Given the description of an element on the screen output the (x, y) to click on. 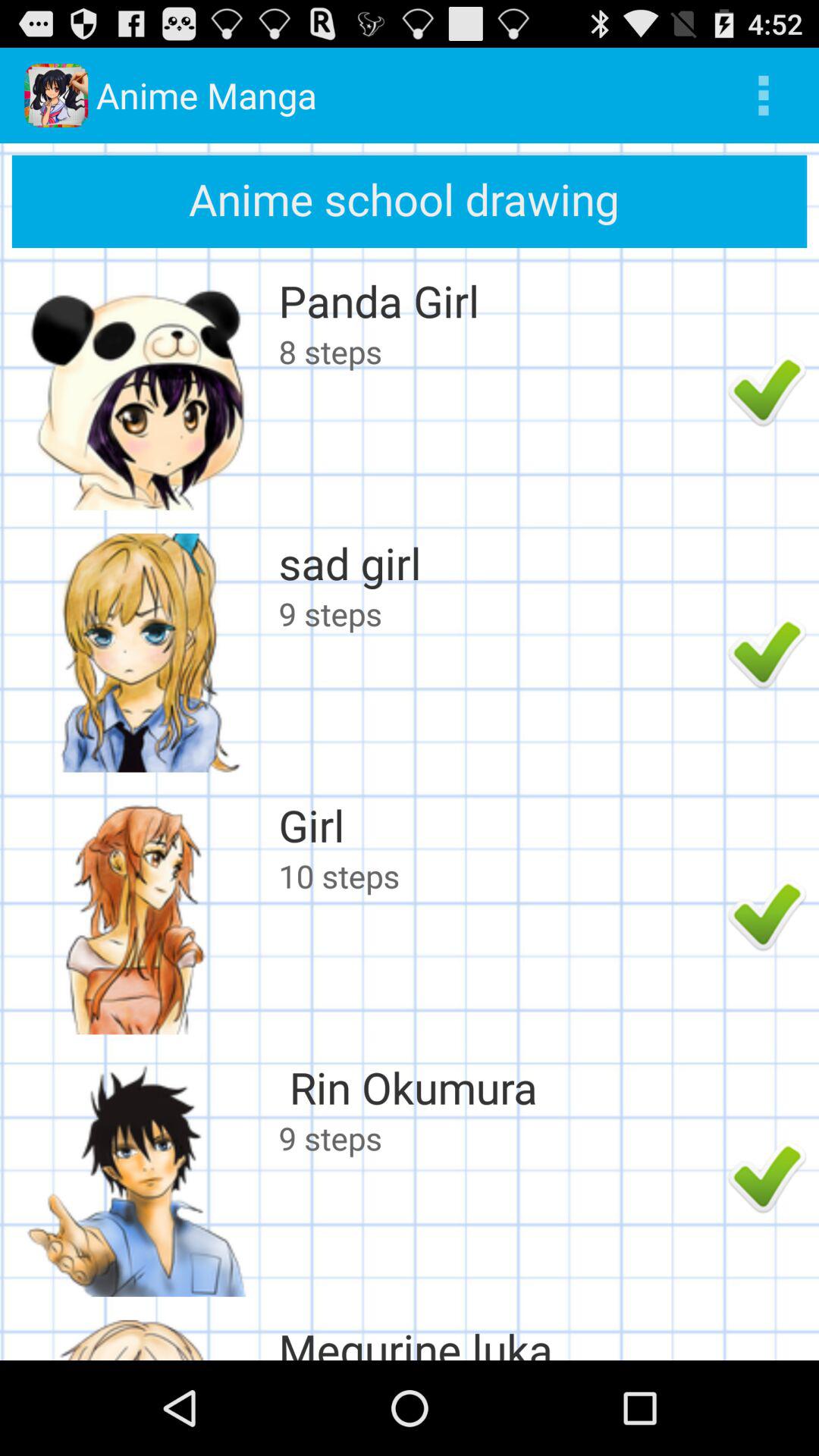
choose the app below the girl (498, 875)
